Given the description of an element on the screen output the (x, y) to click on. 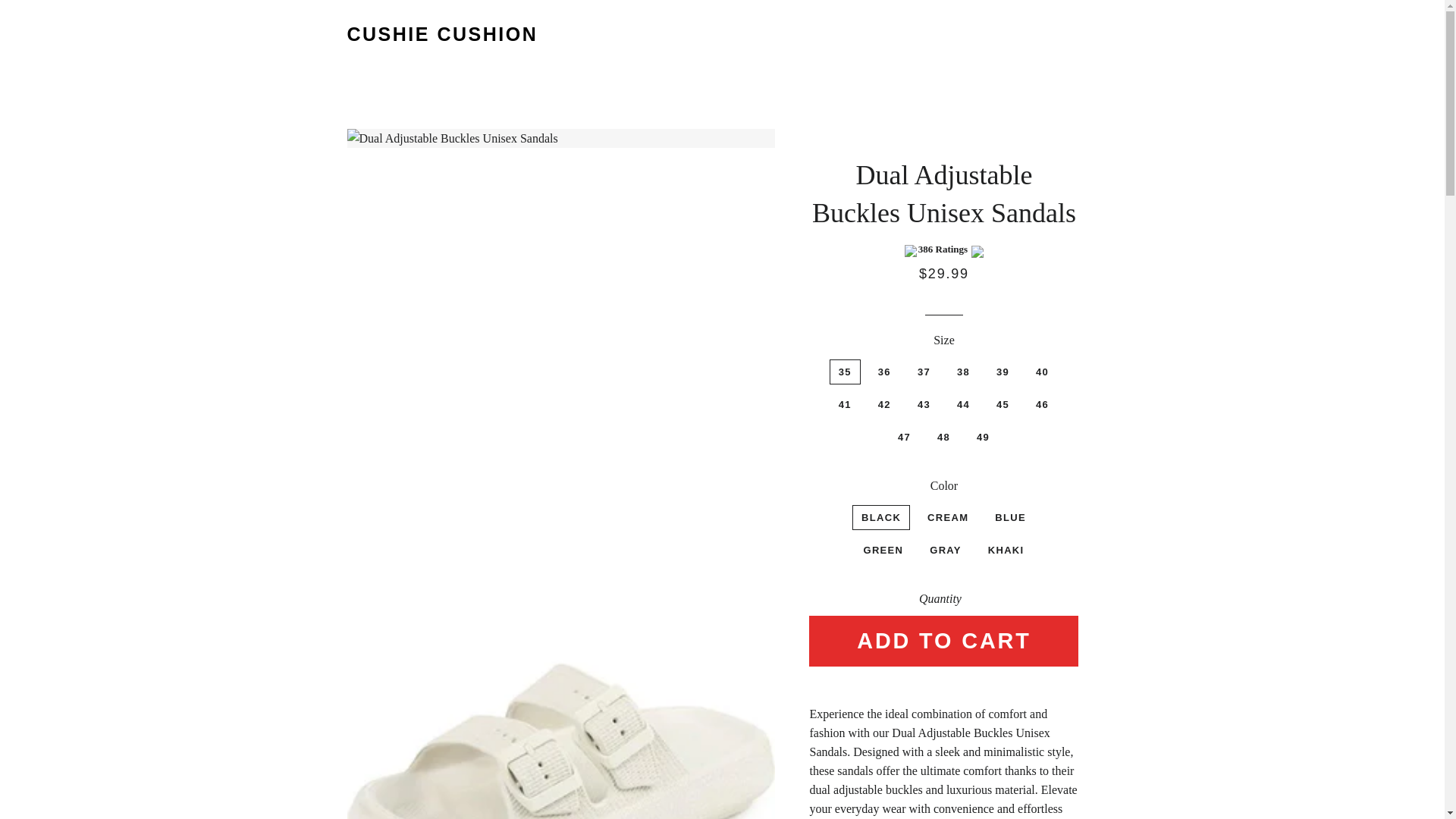
ADD TO CART (943, 640)
